Given the description of an element on the screen output the (x, y) to click on. 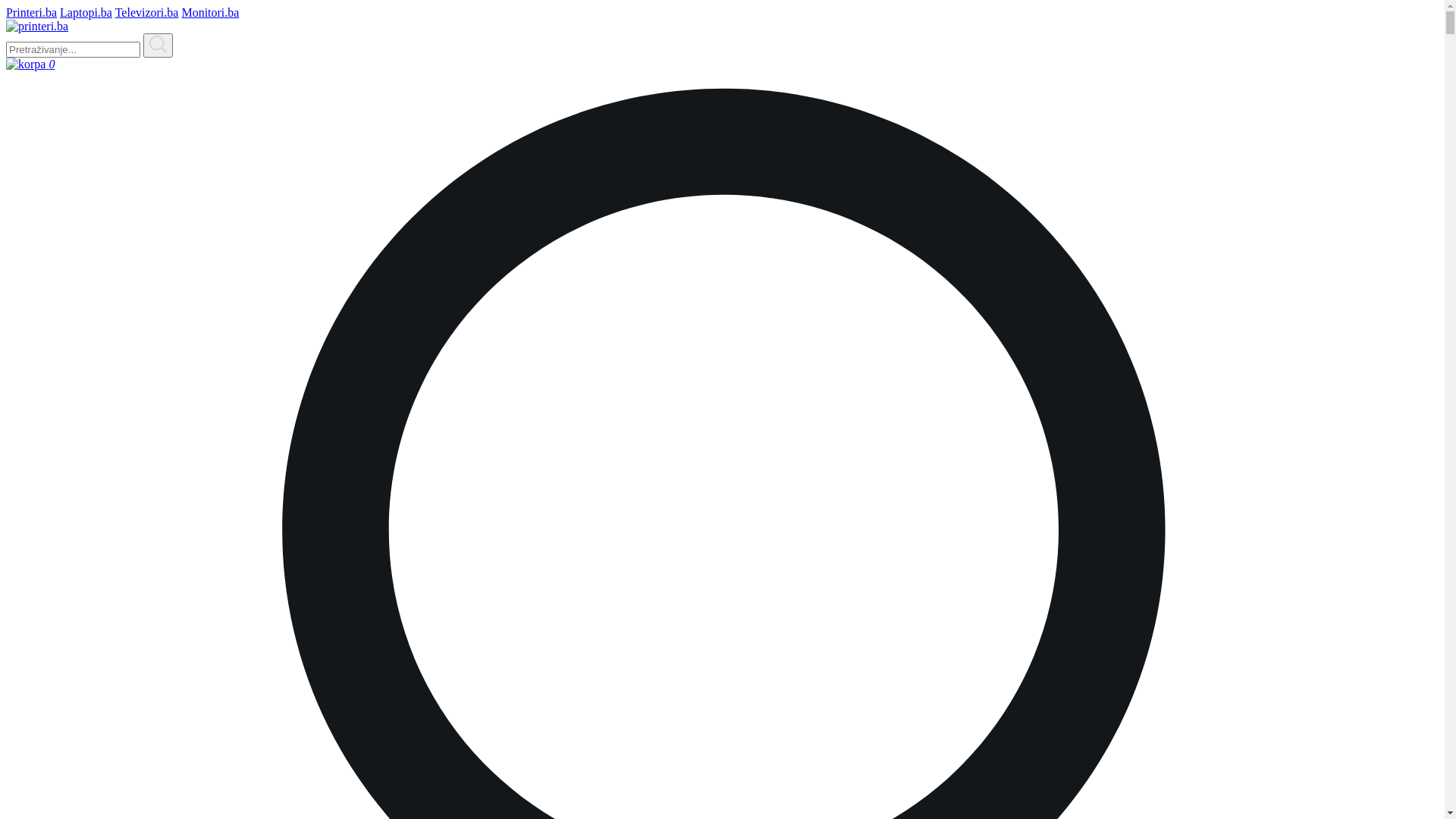
0 Element type: text (722, 64)
Printeri.ba Element type: text (31, 12)
Laptopi.ba Element type: text (85, 12)
Televizori.ba Element type: text (146, 12)
printeri.ba Element type: hover (37, 26)
Monitori.ba Element type: text (209, 12)
